Given the description of an element on the screen output the (x, y) to click on. 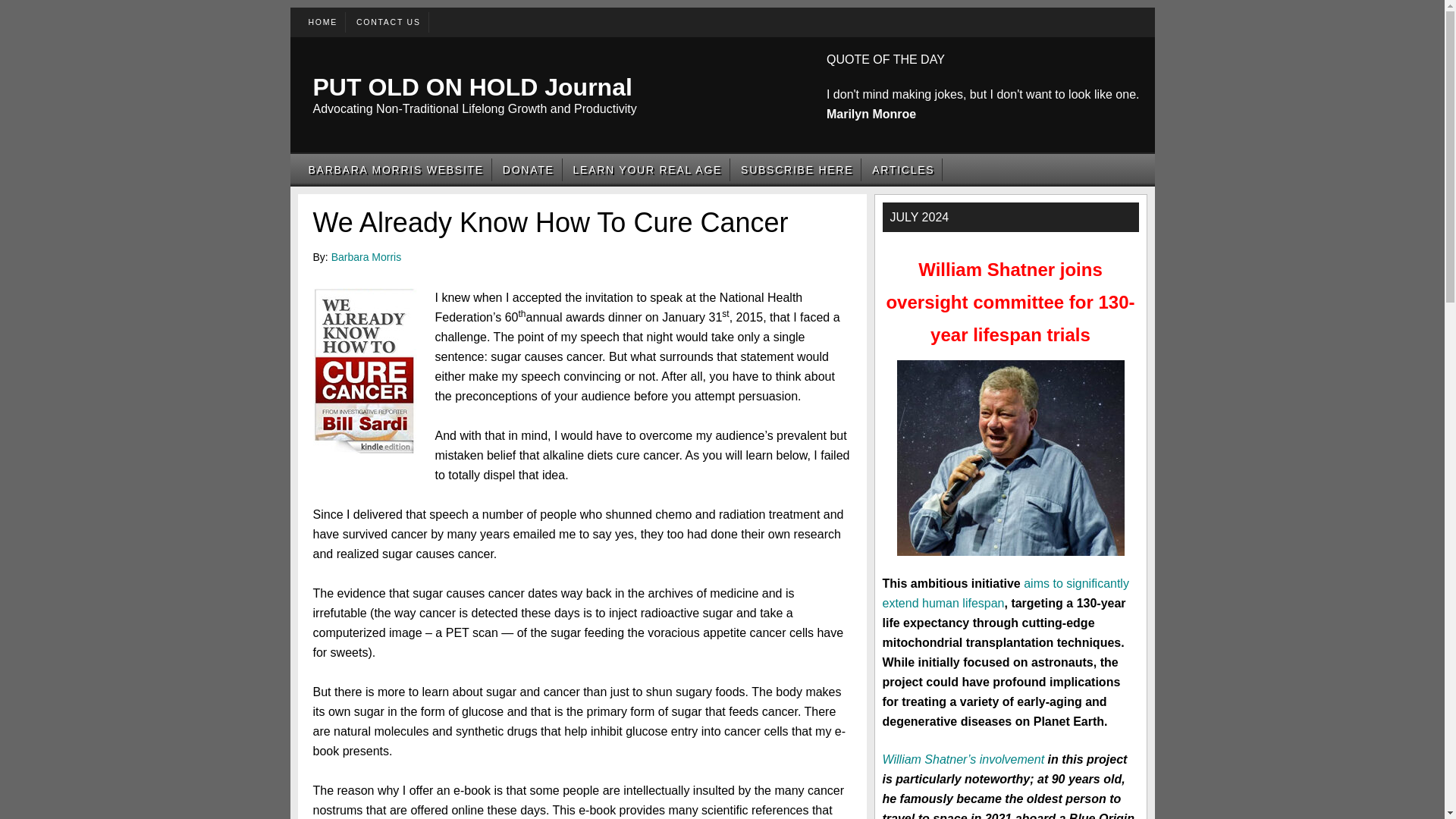
ARTICLES (903, 168)
SUBSCRIBE HERE (796, 168)
BARBARA MORRIS WEBSITE (394, 168)
Learn Your REAL Age (648, 168)
Subscribe Here (796, 168)
Barbara Morris (366, 256)
DONATE (528, 168)
CONTACT US (388, 22)
HOME (322, 22)
